Given the description of an element on the screen output the (x, y) to click on. 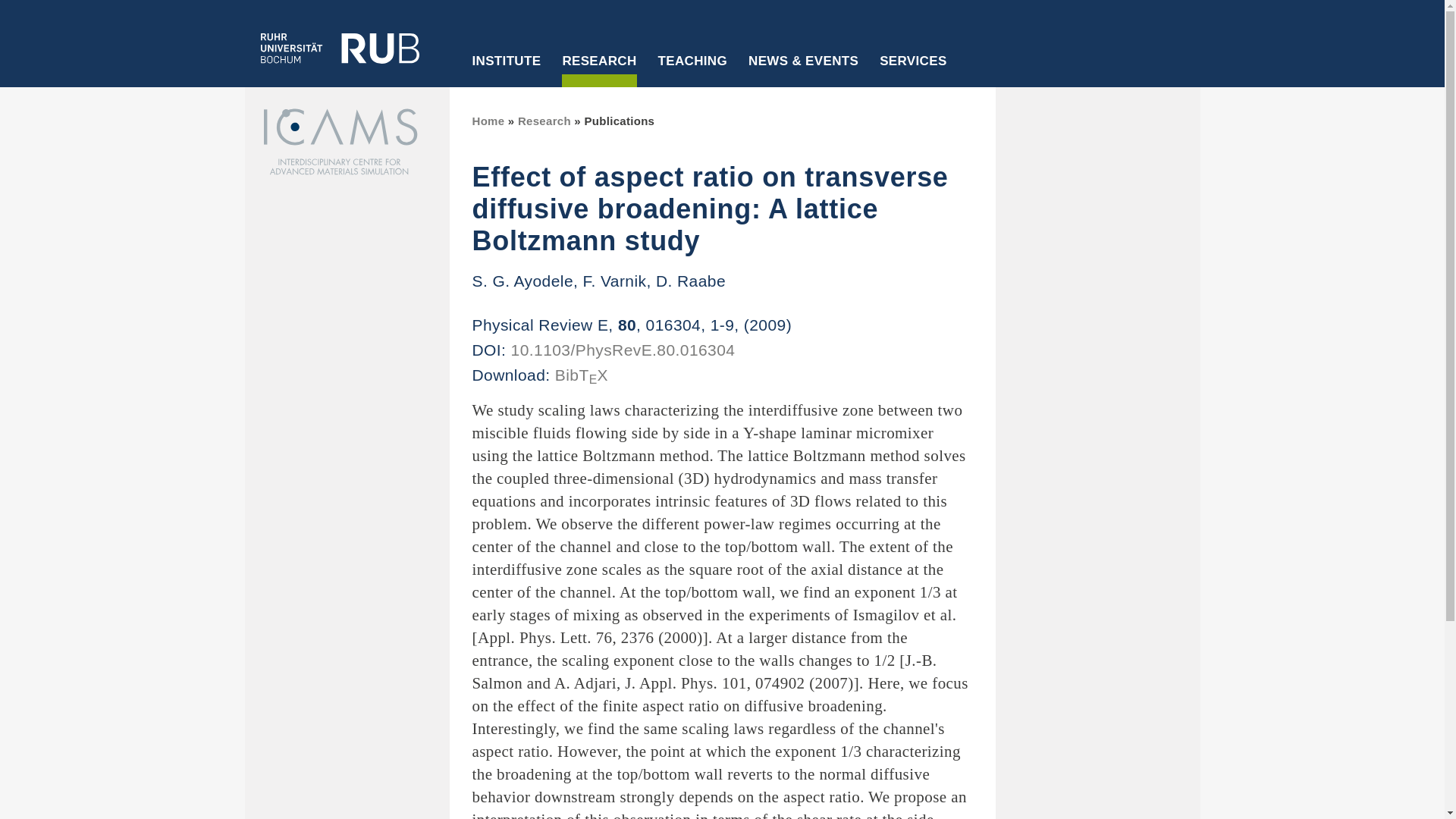
RESEARCH (598, 70)
TEACHING (692, 70)
INSTITUTE (506, 70)
